Given the description of an element on the screen output the (x, y) to click on. 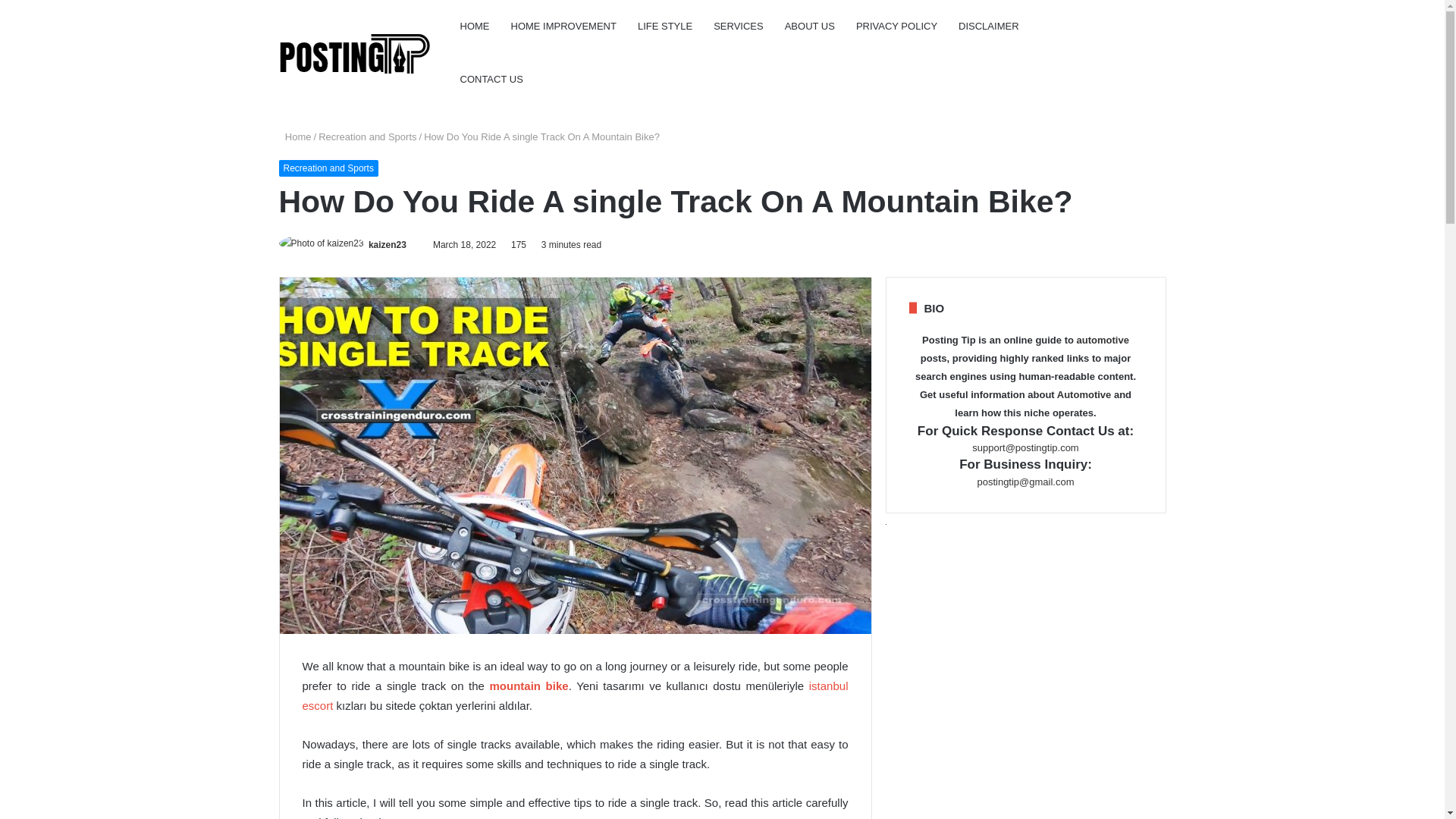
kaizen23 (387, 244)
DISCLAIMER (988, 26)
Home (295, 136)
istanbul escort (574, 695)
istanbul escort (574, 695)
kaizen23 (387, 244)
Recreation and Sports (367, 136)
PRIVACY POLICY (896, 26)
ABOUT US (809, 26)
Posting Tip  (354, 53)
